Given the description of an element on the screen output the (x, y) to click on. 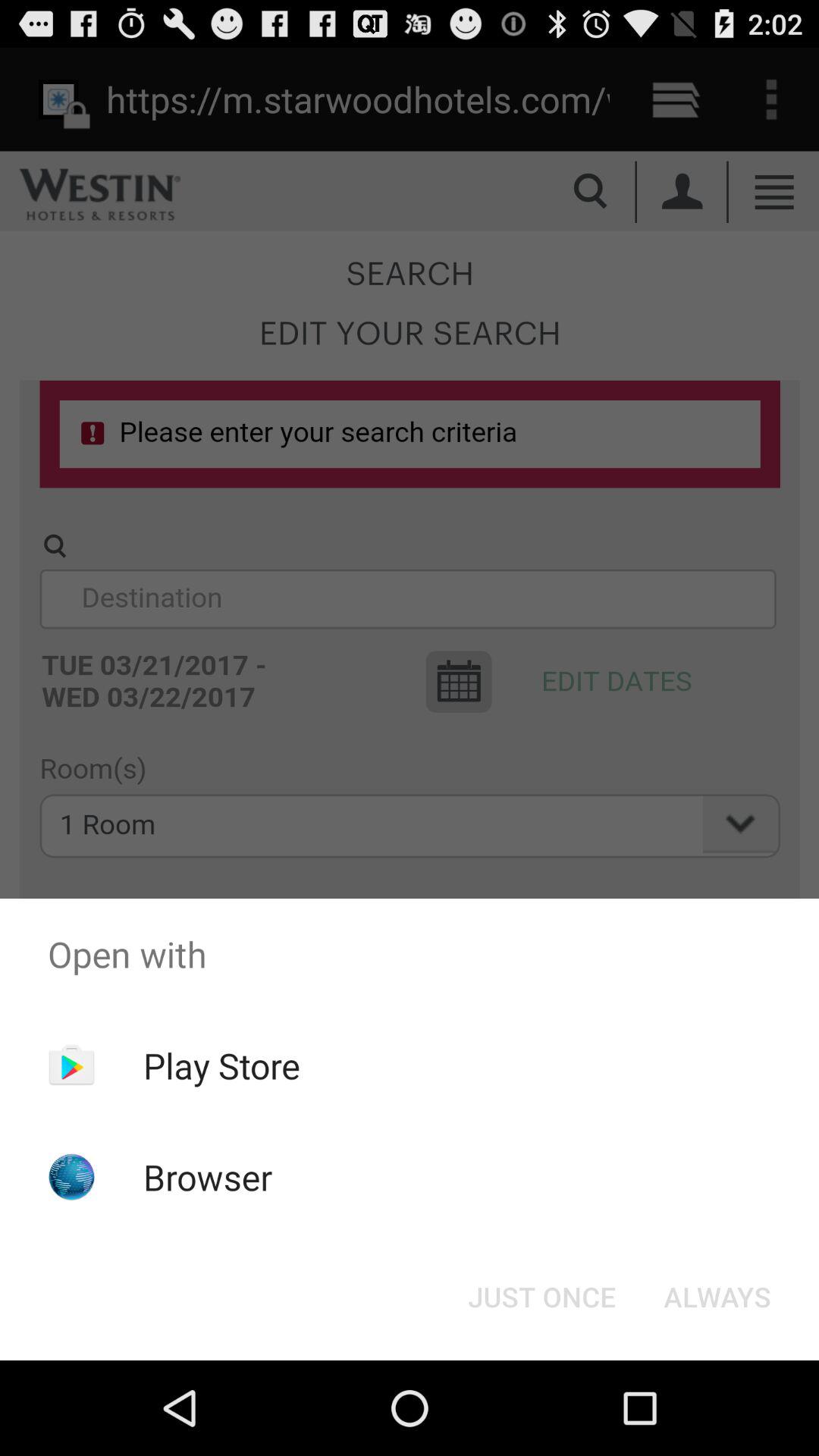
select the item next to just once button (717, 1296)
